Given the description of an element on the screen output the (x, y) to click on. 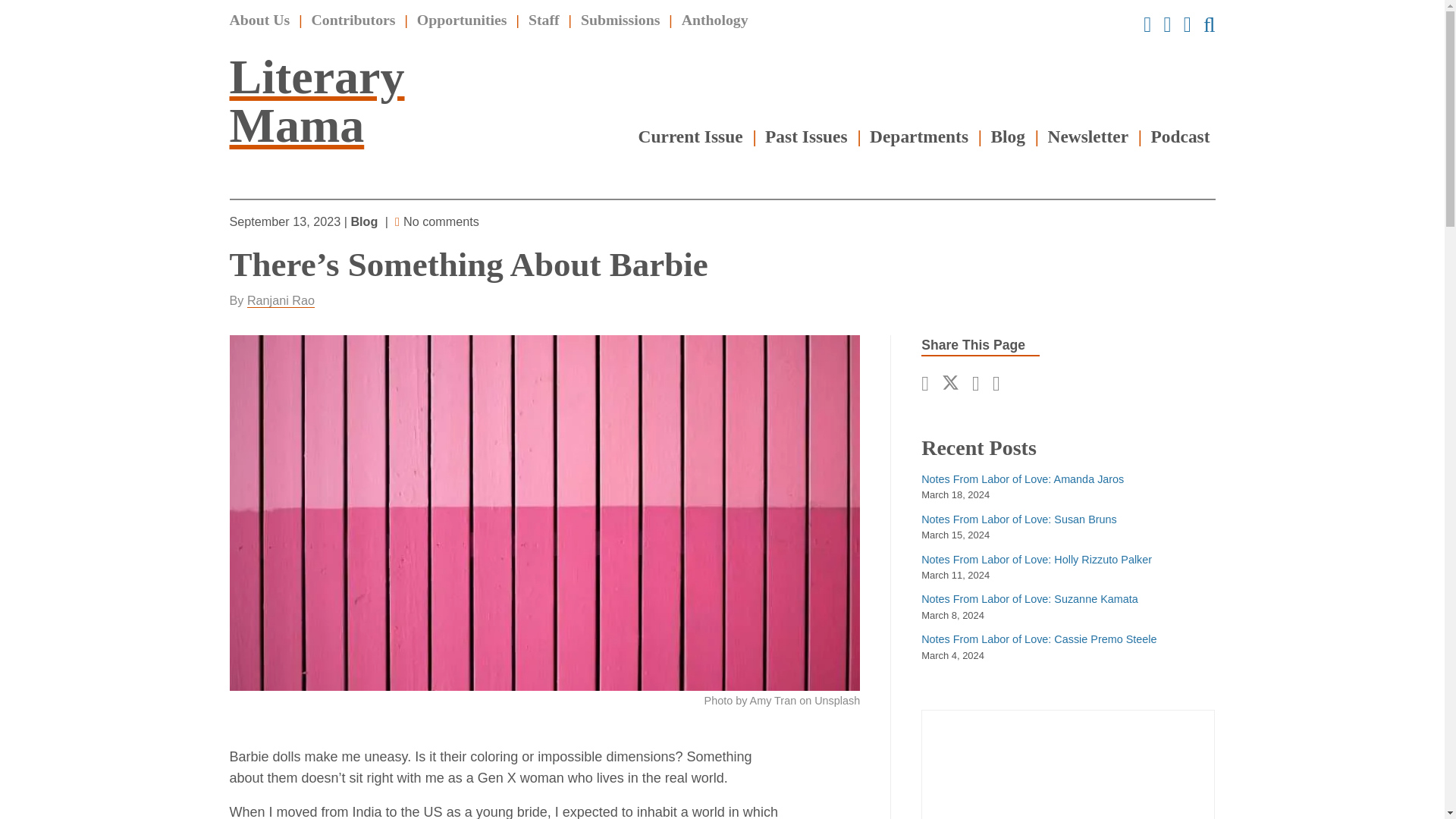
Literary Mama (316, 100)
Ranjani Rao (280, 300)
Share to X (955, 383)
Current Issue (690, 136)
Newsletter (1088, 136)
Anthology (714, 19)
No comments (441, 221)
About Us (258, 19)
Notes From Labor of Love: Susan Bruns (1018, 519)
September 13, 2023 (285, 221)
Opportunities (461, 19)
Current Issue (690, 136)
Literary Mama (316, 100)
Notes From Labor of Love: Holly Rizzuto Palker (1036, 559)
Unsplash (836, 700)
